Given the description of an element on the screen output the (x, y) to click on. 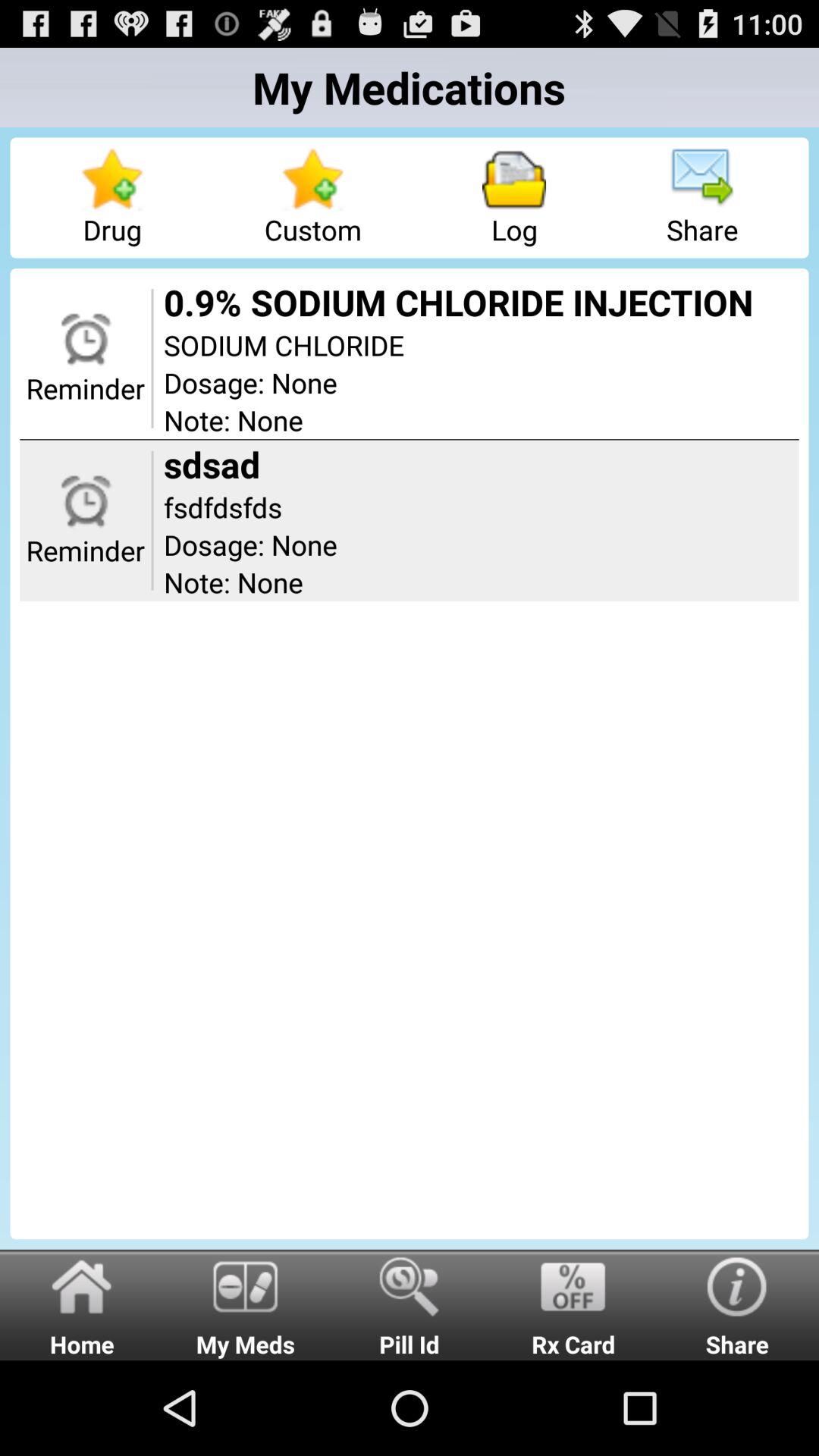
select the icon next to sdsad (152, 520)
